Given the description of an element on the screen output the (x, y) to click on. 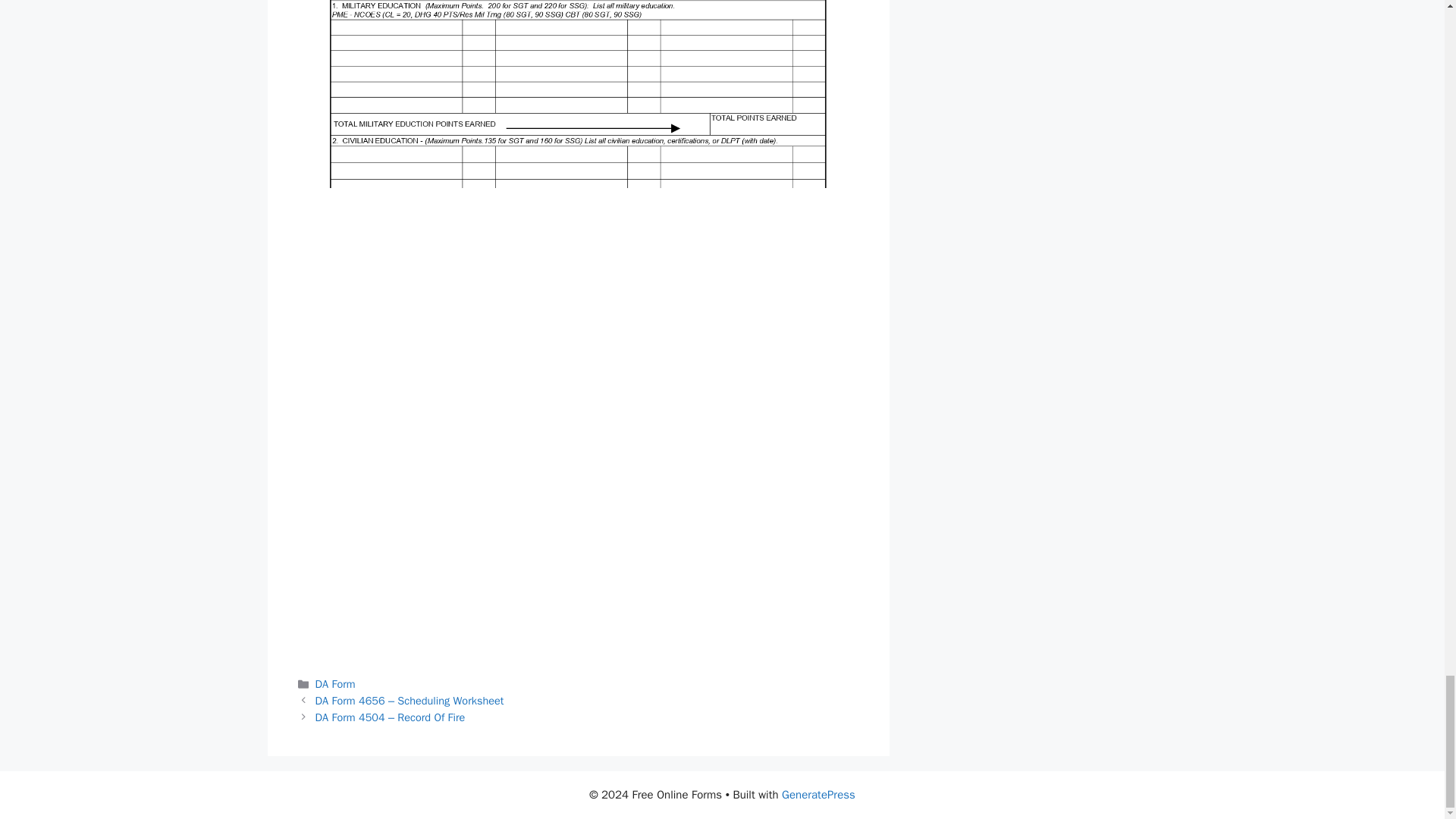
GeneratePress (818, 794)
DA Form (335, 684)
